Given the description of an element on the screen output the (x, y) to click on. 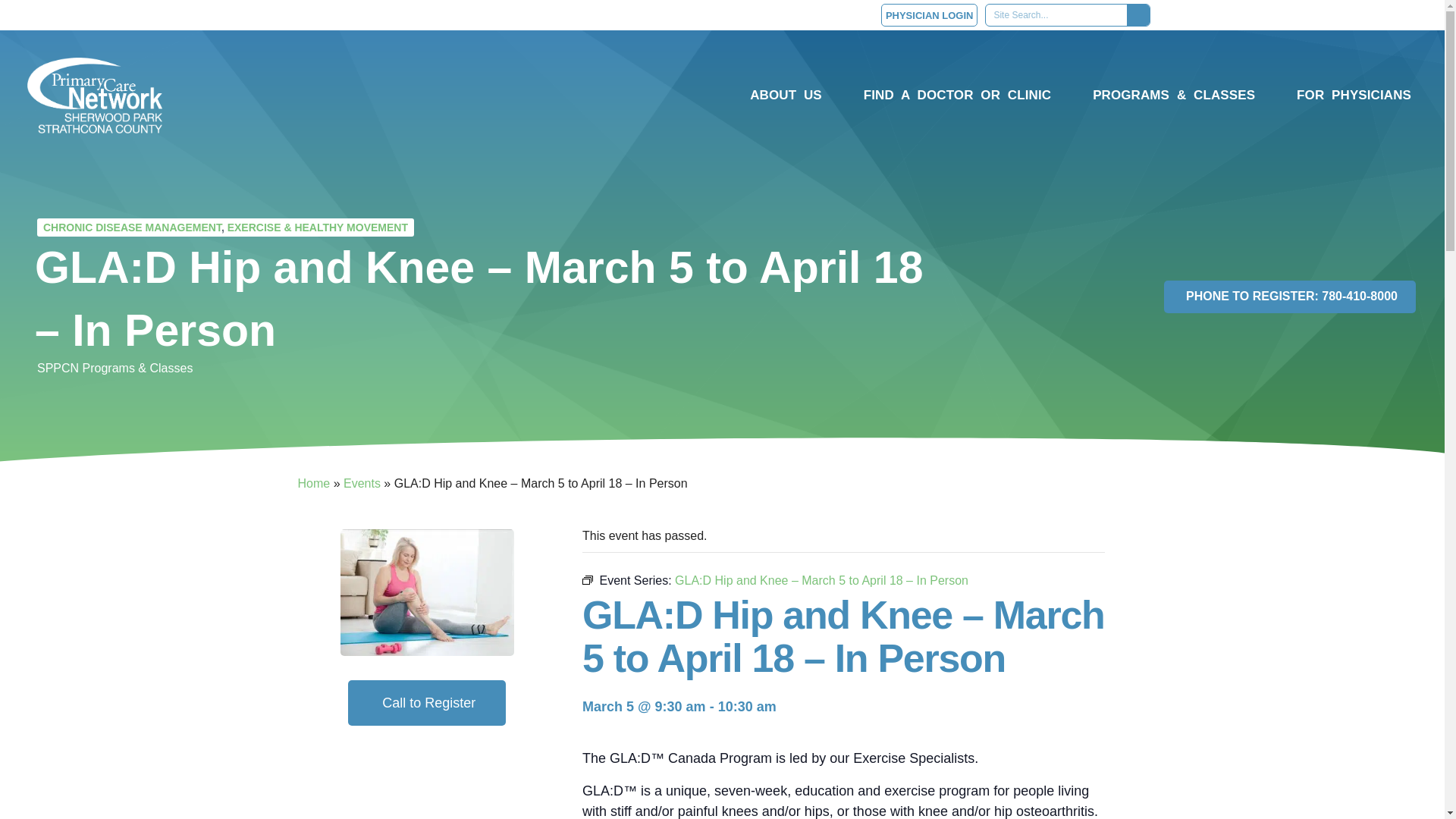
Call to Register (426, 703)
PHONE TO REGISTER: 780-410-8000 (1289, 296)
FOR PHYSICIANS (1353, 95)
Events (361, 482)
FIND A DOCTOR OR CLINIC (961, 95)
PHYSICIAN LOGIN (929, 15)
Event Series (587, 579)
CHRONIC DISEASE MANAGEMENT (132, 227)
Home (313, 482)
ABOUT US (789, 95)
